Given the description of an element on the screen output the (x, y) to click on. 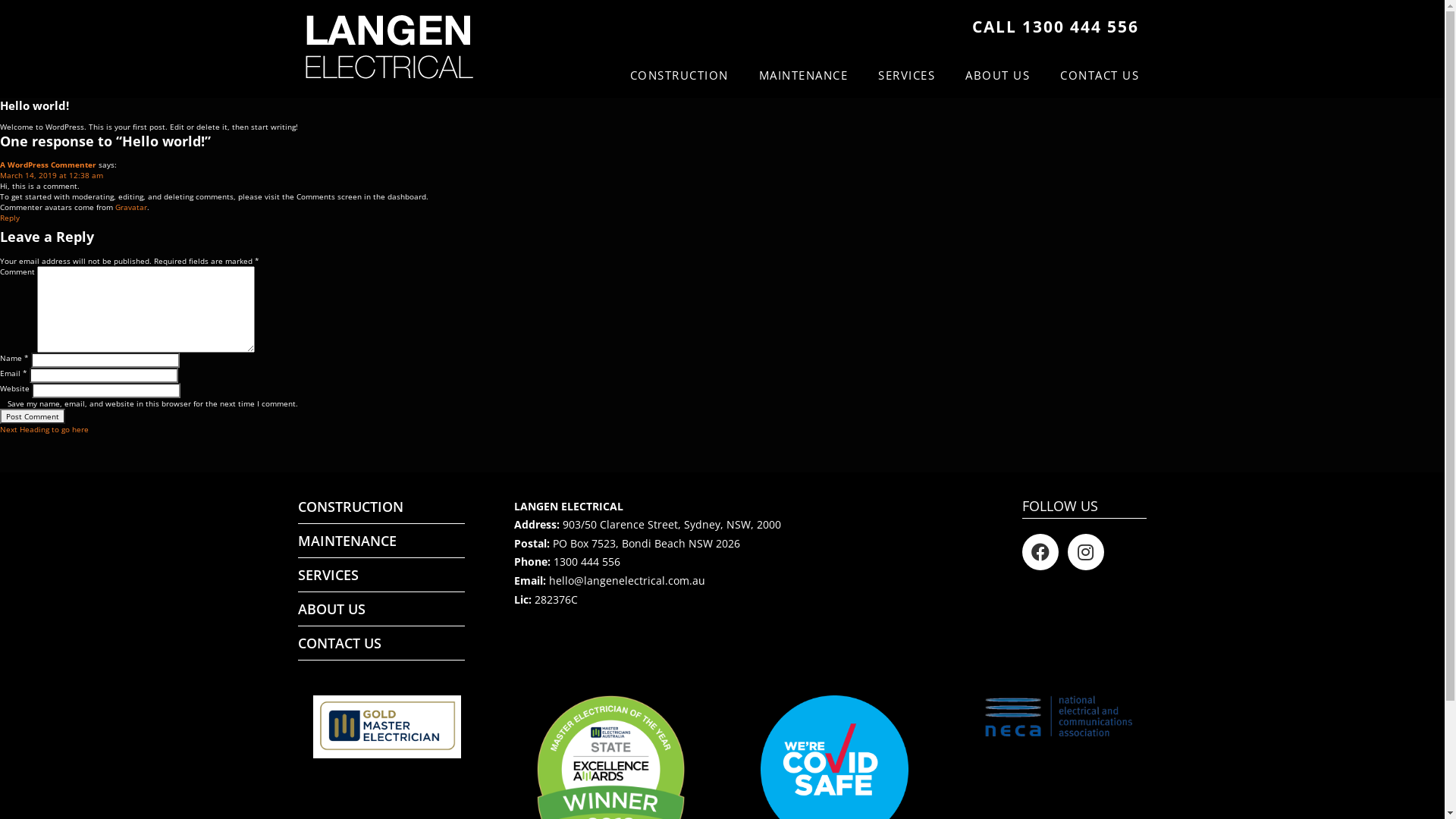
SERVICES Element type: text (906, 74)
ABOUT US Element type: text (380, 608)
CONSTRUCTION Element type: text (679, 74)
MAINTENANCE Element type: text (380, 540)
A WordPress Commenter Element type: text (48, 164)
Next
Heading to go here Element type: text (44, 428)
MAINTENANCE Element type: text (803, 74)
SERVICES Element type: text (380, 574)
hello@langenelectrical.com.au Element type: text (627, 580)
CONSTRUCTION Element type: text (380, 506)
CALL 1300 444 556 Element type: text (1055, 26)
Post Comment Element type: text (32, 415)
Gravatar Element type: text (131, 206)
ABOUT US Element type: text (997, 74)
Reply Element type: text (9, 217)
CONTACT US Element type: text (1099, 74)
CONTACT US Element type: text (380, 642)
March 14, 2019 at 12:38 am Element type: text (51, 174)
